Given the description of an element on the screen output the (x, y) to click on. 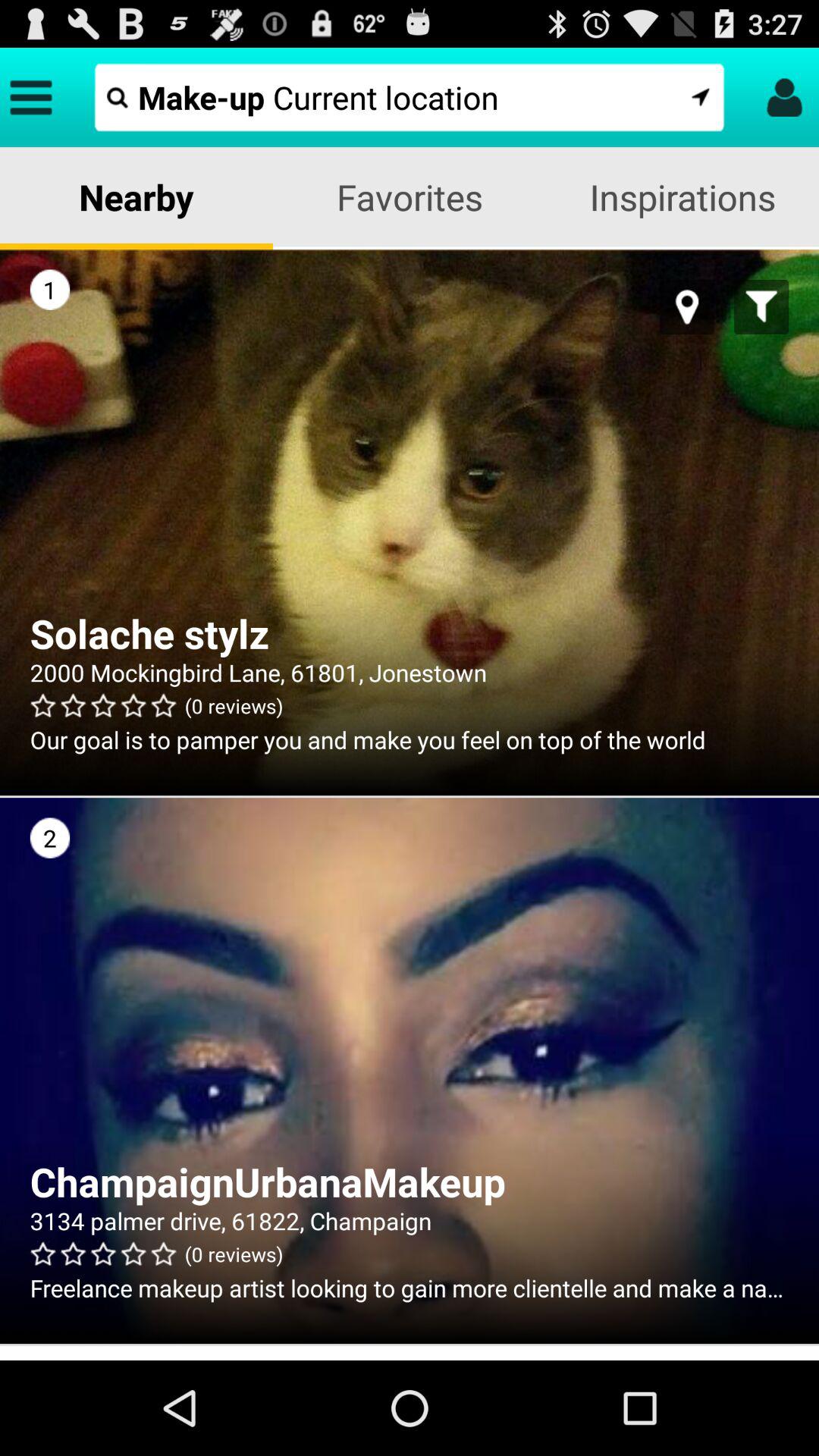
swipe to make up current app (409, 97)
